Given the description of an element on the screen output the (x, y) to click on. 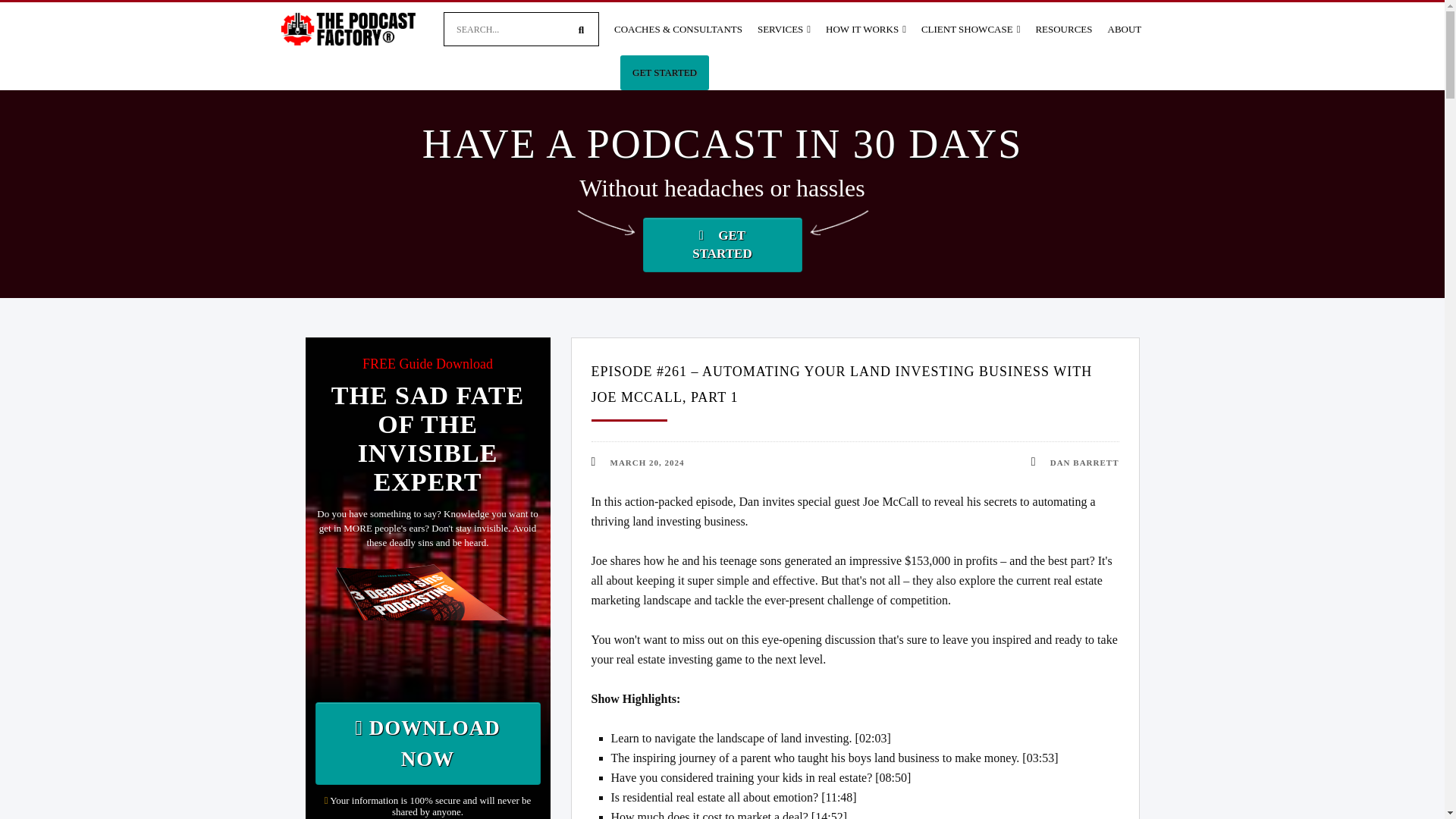
CLIENT SHOWCASE (970, 33)
DOWNLOAD NOW (427, 742)
HOW IT WORKS (866, 33)
SERVICES (783, 33)
RESOURCES (1063, 33)
GET STARTED (722, 244)
2024-03-20 (647, 461)
ABOUT (1125, 33)
GET STARTED (664, 72)
